Given the description of an element on the screen output the (x, y) to click on. 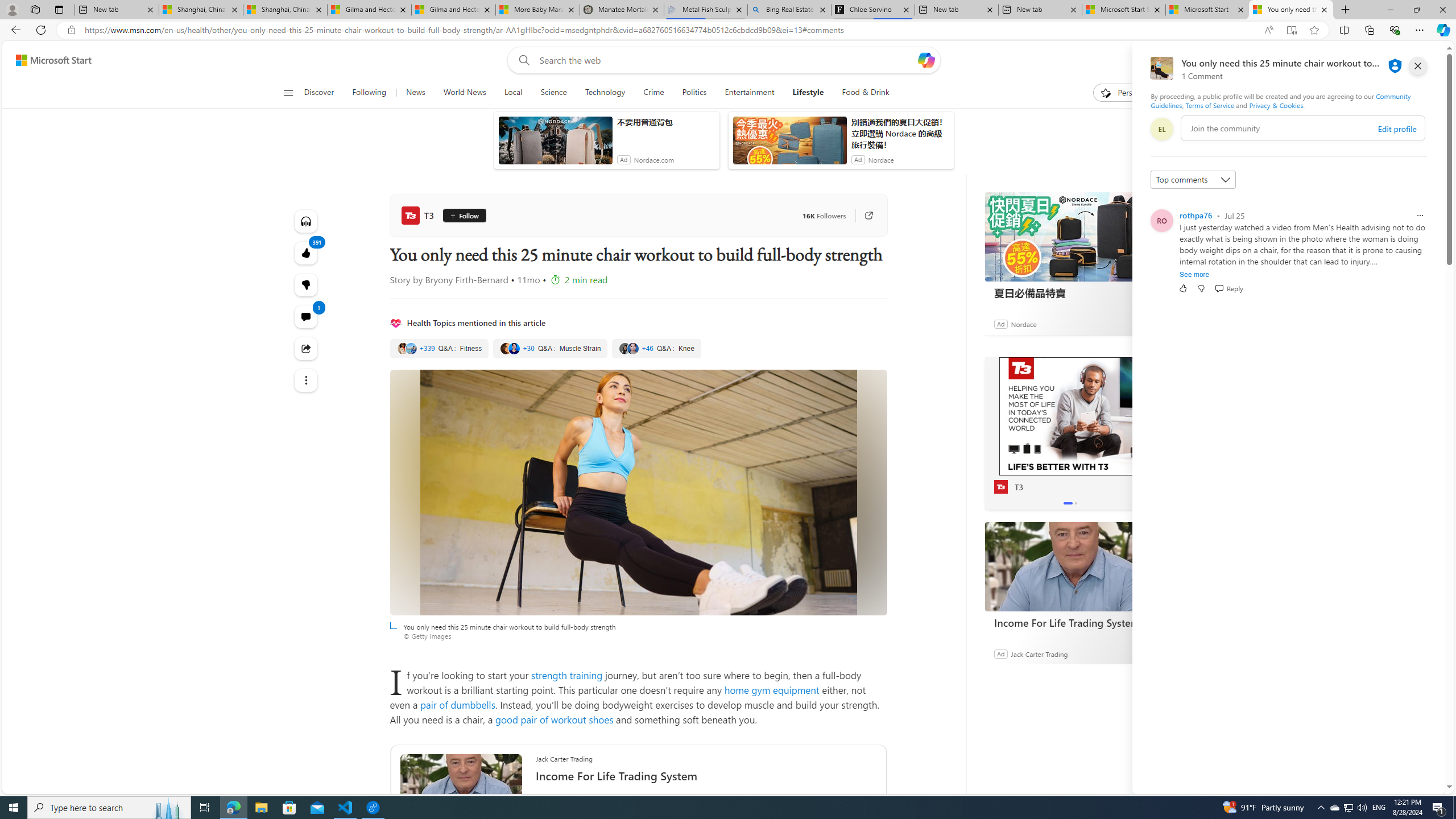
More like this391Fewer like thisView comments (305, 284)
Technology (604, 92)
View comments 1 Comment (305, 316)
Listen to this article (305, 220)
